Given the description of an element on the screen output the (x, y) to click on. 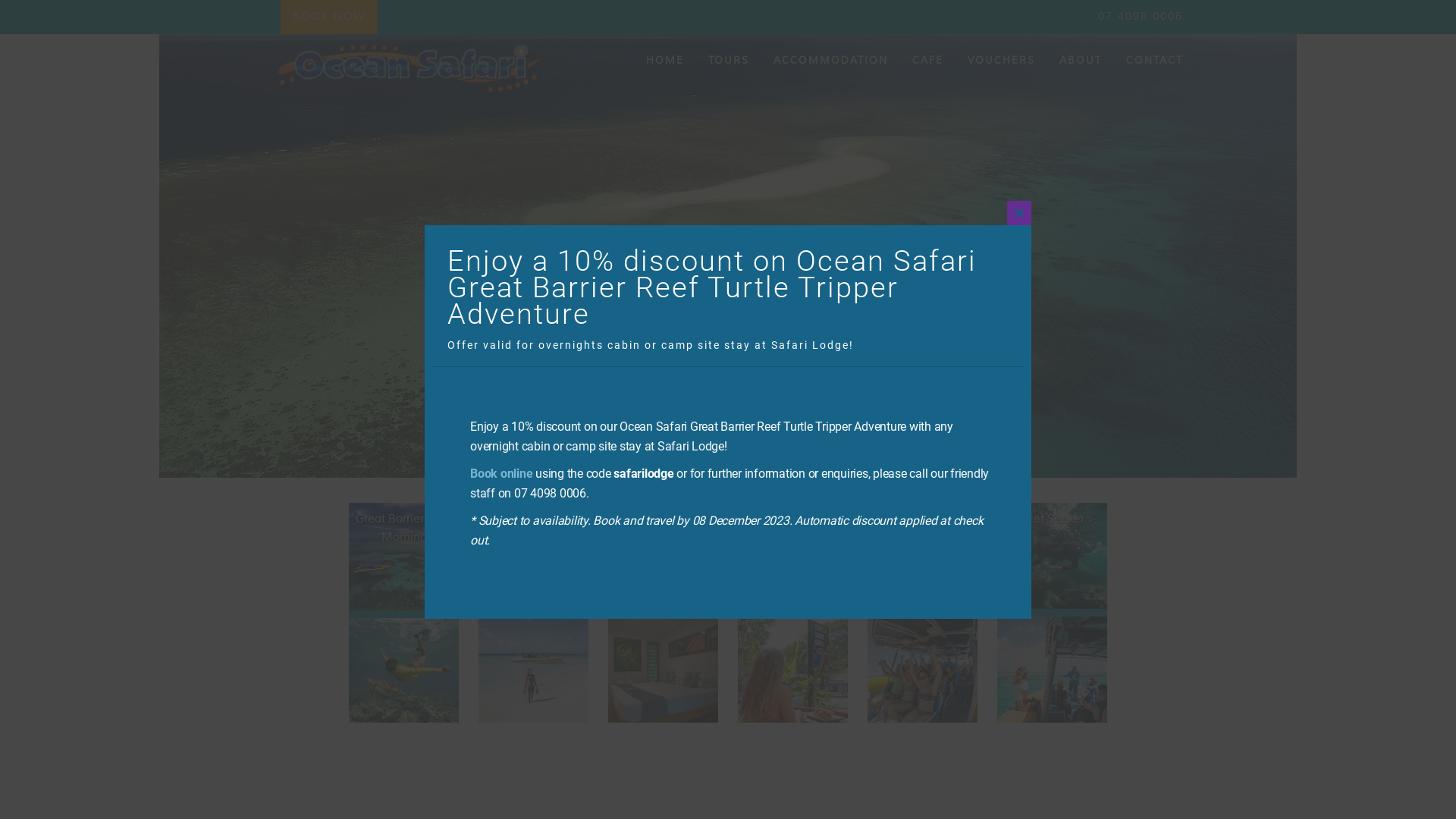
TOURS Element type: text (728, 60)
Safari Lodge Element type: text (663, 728)
Great Barrier Reef Afternoon Element type: text (533, 728)
ACCOMMODATION Element type: text (830, 60)
Skip to primary navigation Element type: text (0, 0)
VOUCHERS Element type: text (1001, 60)
Groups & Charters Element type: text (922, 728)
Ocean Safari Website Element type: text (409, 74)
CONTACT Element type: text (1149, 60)
Reef Seeker Element type: text (1052, 728)
CAFE Element type: text (927, 60)
Close this module Element type: text (1019, 212)
Great Barrier Reef Morning Element type: text (403, 728)
ABOUT Element type: text (1080, 60)
Book online Element type: text (501, 472)
HOME Element type: text (664, 60)
07 4098 0006 Element type: text (1140, 16)
